Given the description of an element on the screen output the (x, y) to click on. 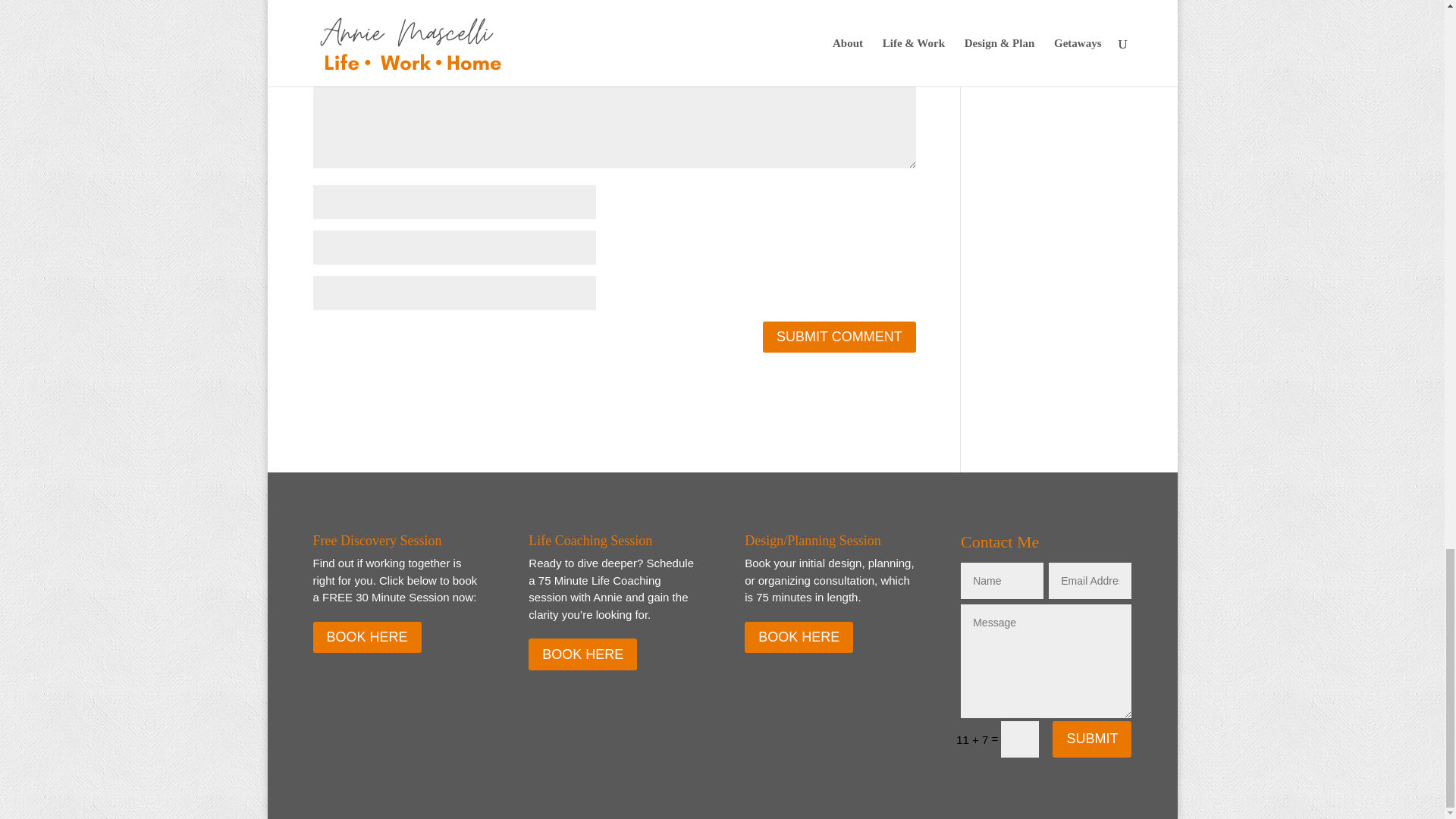
Submit Comment (838, 336)
BOOK HERE (798, 636)
BOOK HERE (582, 653)
BOOK HERE (366, 636)
SUBMIT (1091, 739)
Submit Comment (838, 336)
